Given the description of an element on the screen output the (x, y) to click on. 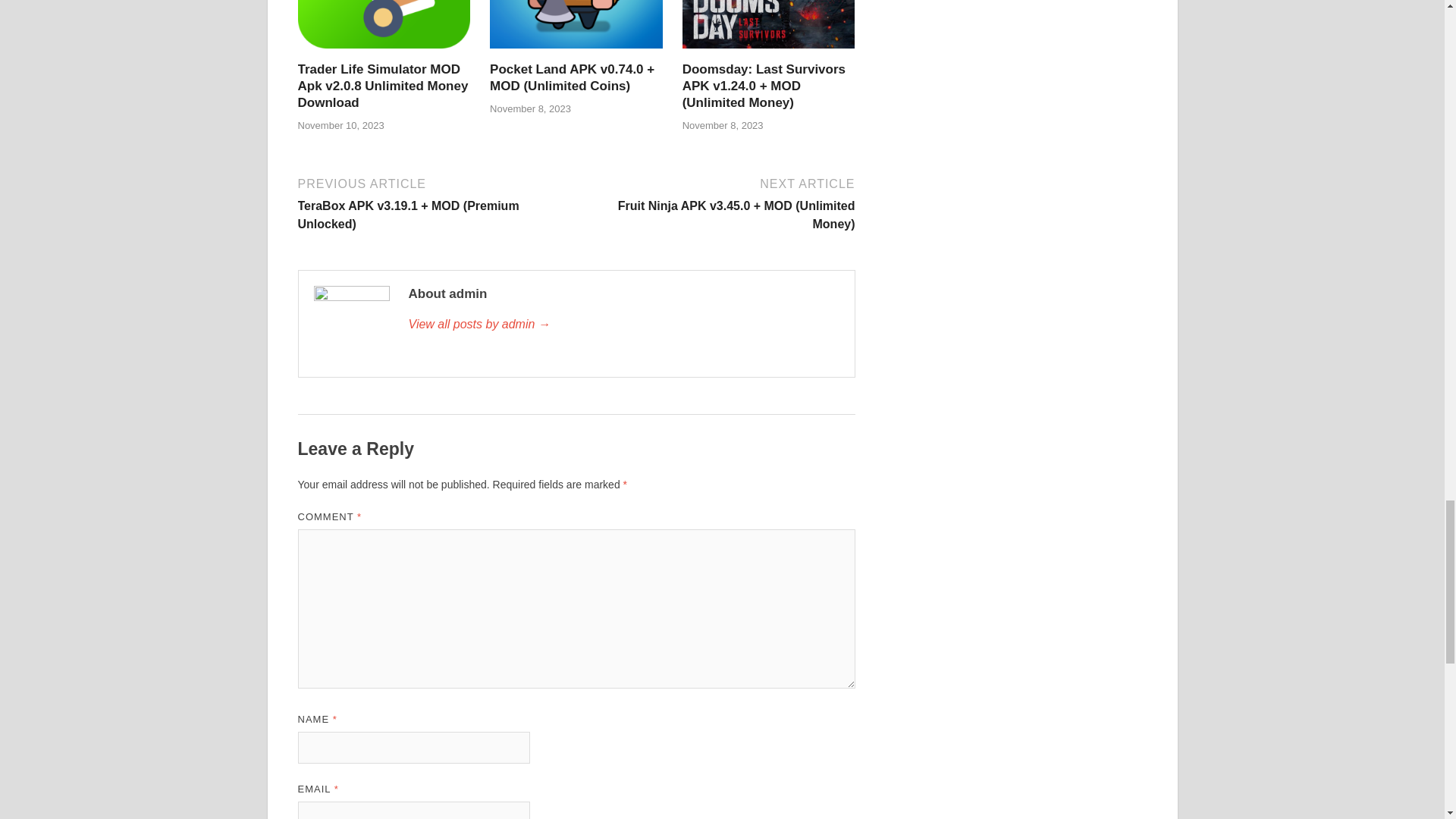
admin (622, 324)
